Given the description of an element on the screen output the (x, y) to click on. 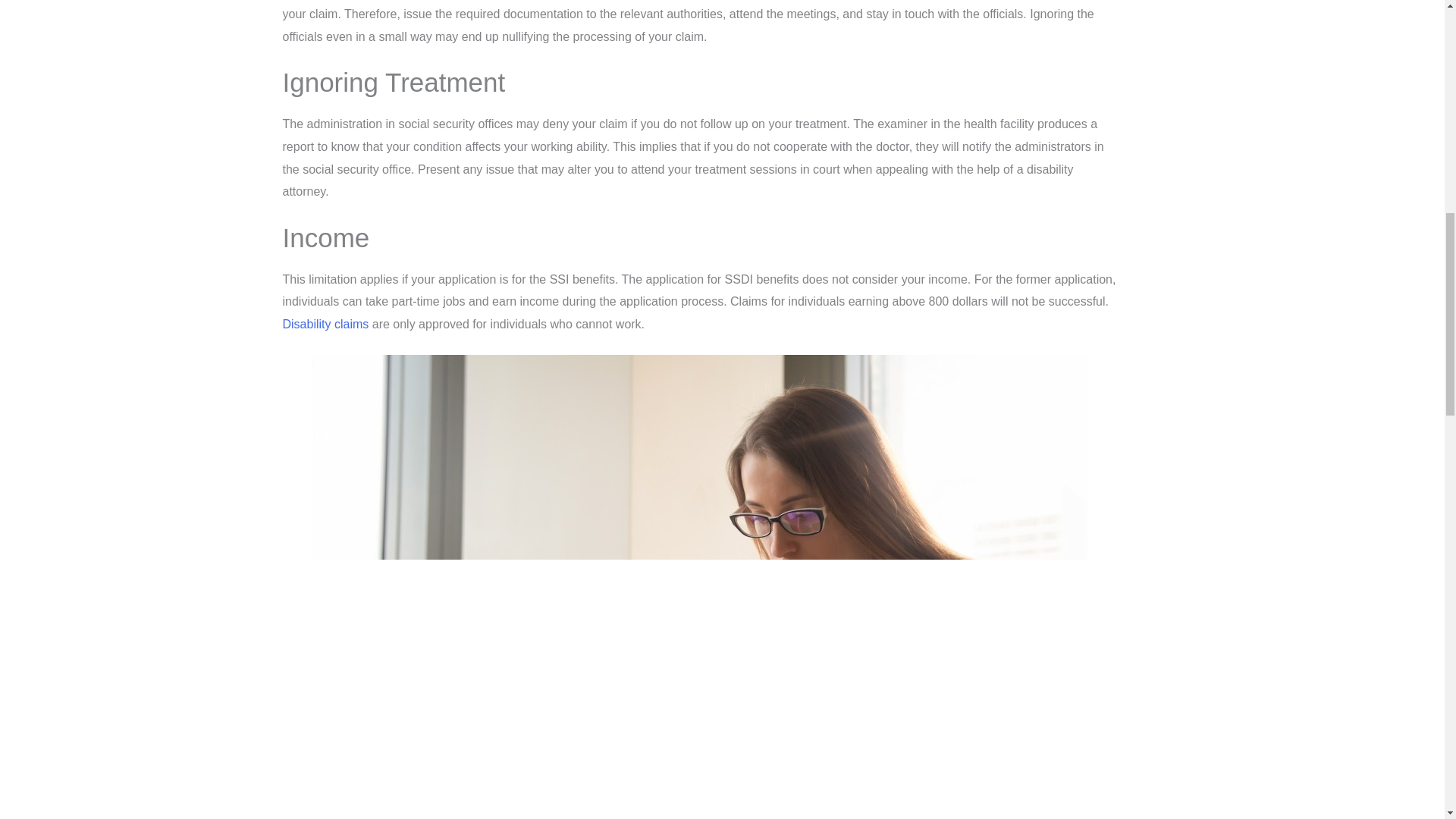
Social Security Administration (325, 323)
Disability claims (325, 323)
